Given the description of an element on the screen output the (x, y) to click on. 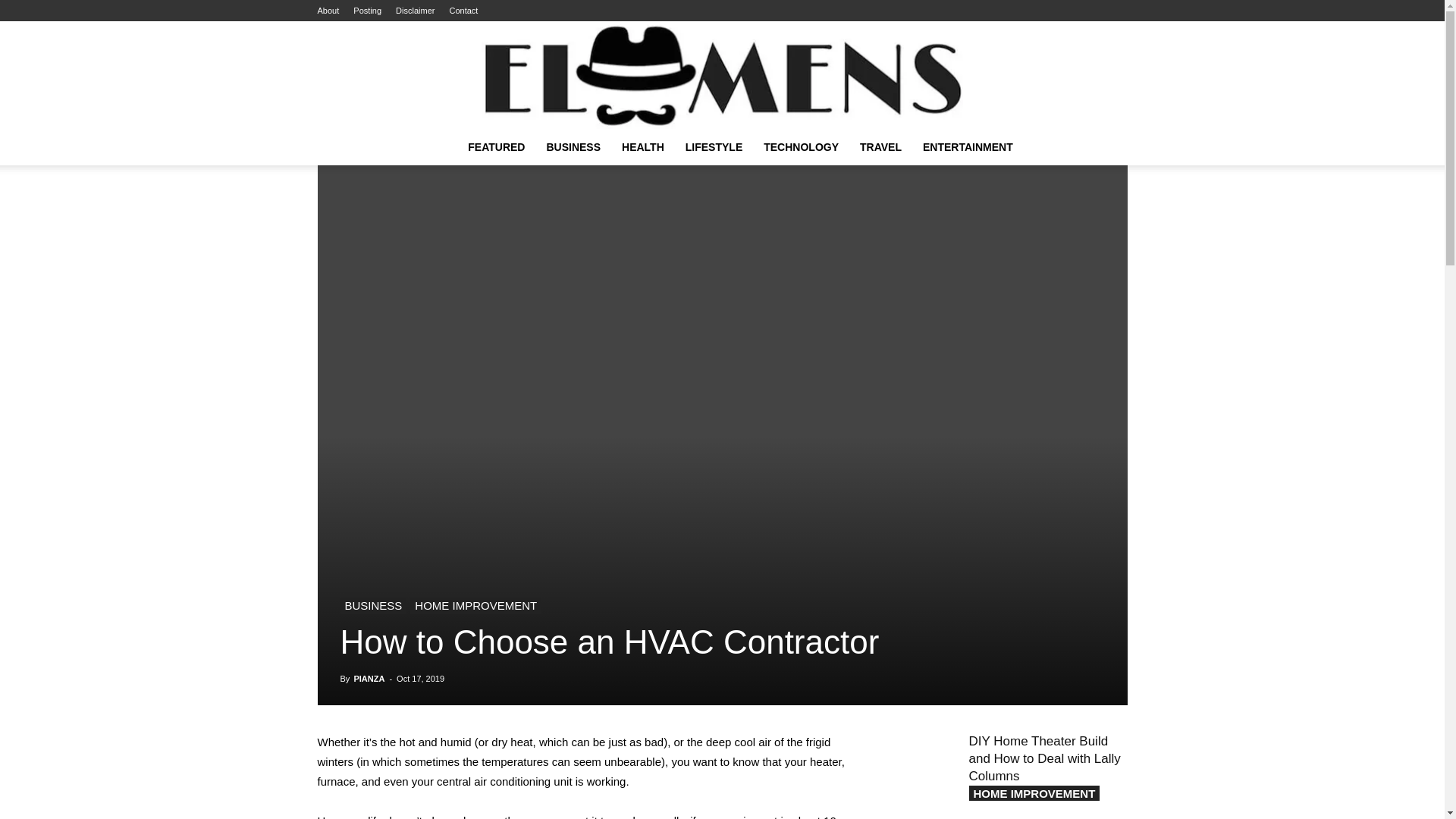
LIFESTYLE (713, 146)
CATEGORIES (496, 146)
elmenslogo (721, 74)
